Given the description of an element on the screen output the (x, y) to click on. 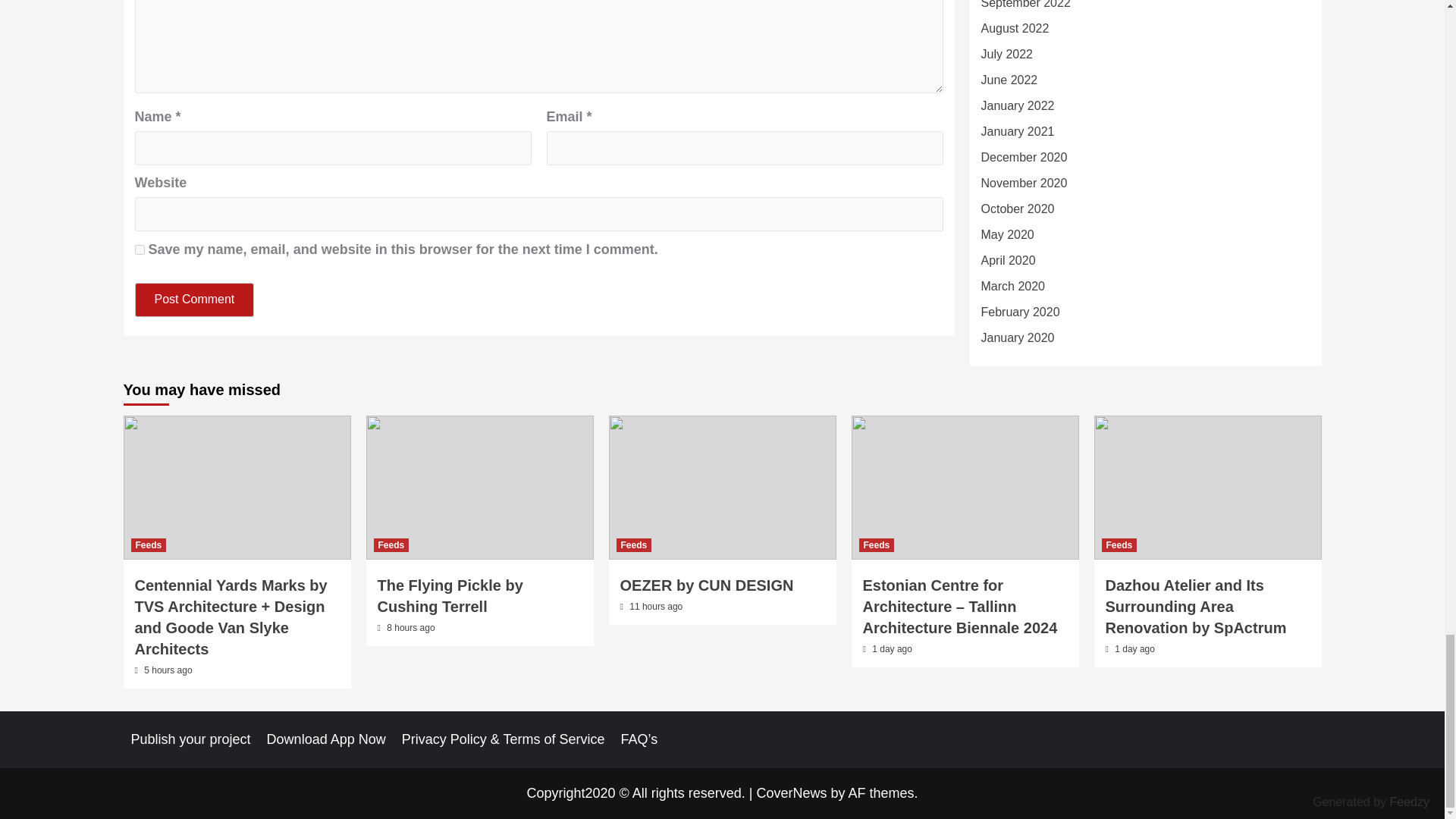
Post Comment (194, 299)
Post Comment (194, 299)
yes (139, 249)
